Given the description of an element on the screen output the (x, y) to click on. 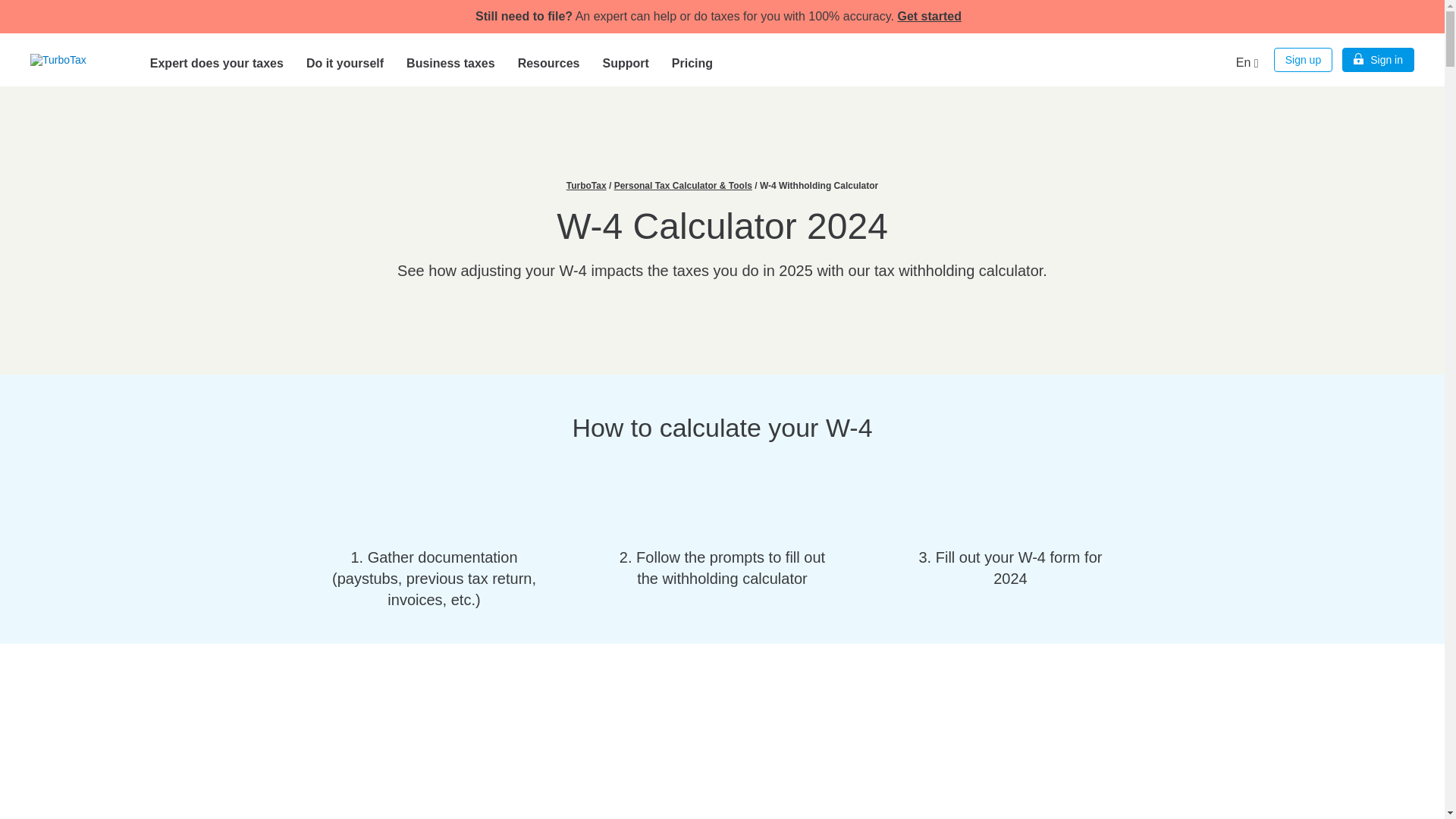
Do it yourself (344, 59)
Business taxes (450, 59)
Get started (928, 15)
Resources (548, 59)
Expert does your taxes (216, 59)
